Given the description of an element on the screen output the (x, y) to click on. 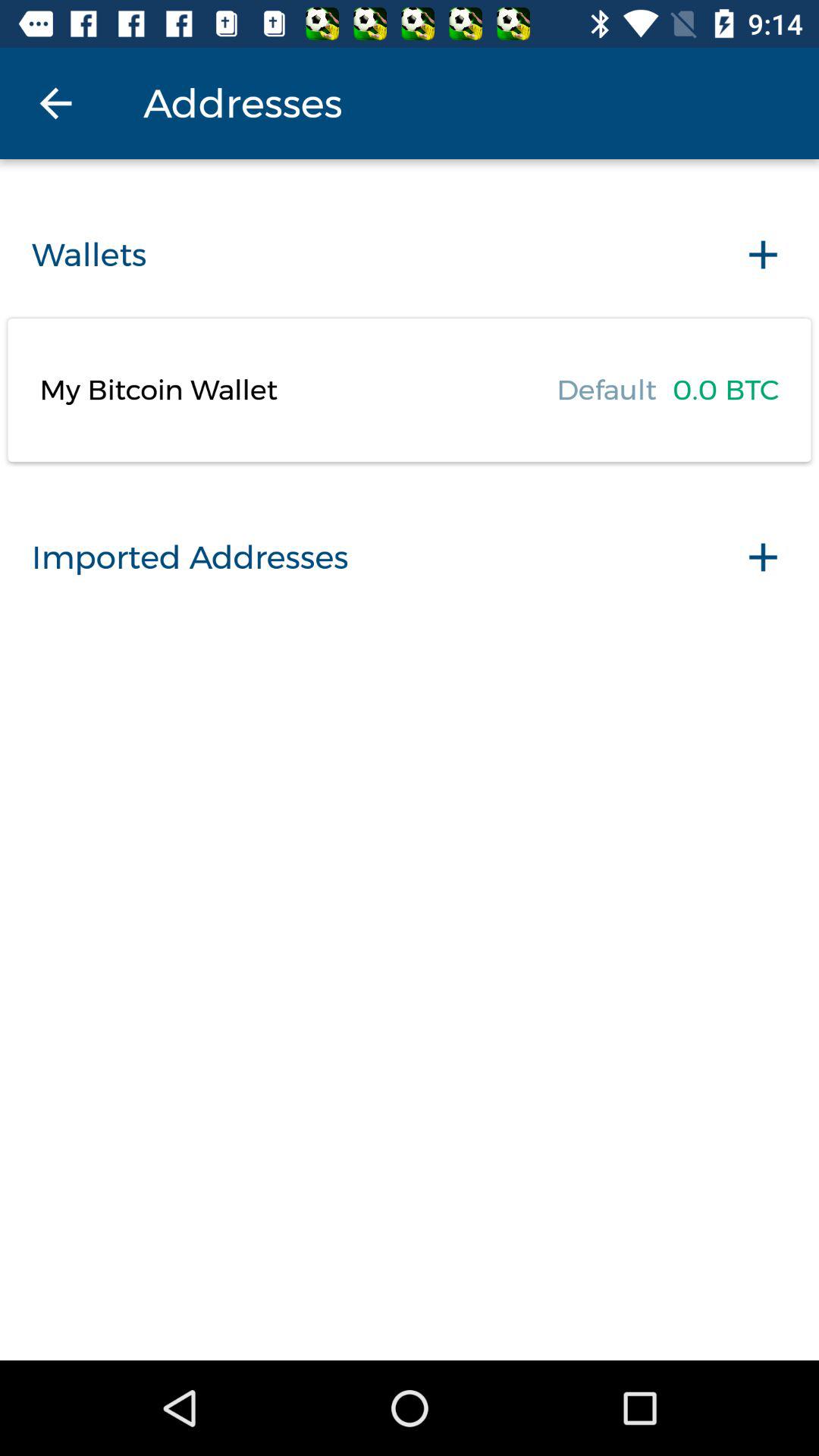
turn on the icon next to addresses icon (55, 103)
